Given the description of an element on the screen output the (x, y) to click on. 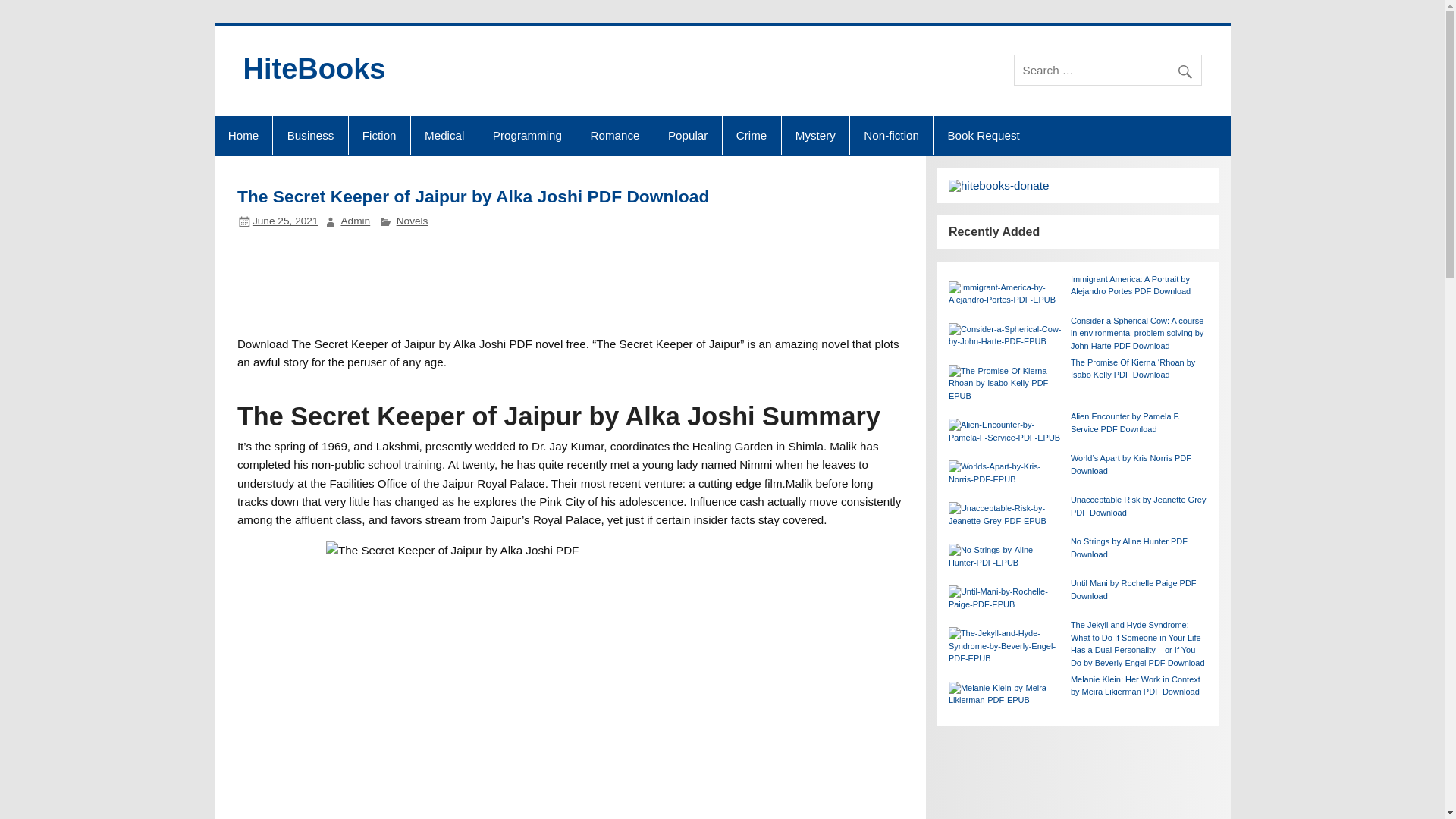
Medical (444, 135)
View all posts by Admin (354, 220)
Fiction (379, 135)
Until Mani by Rochelle Paige PDF Download (1133, 589)
Book Request (983, 135)
Novels (412, 220)
Alien Encounter by Pamela F. Service PDF Download (1124, 422)
Romance (614, 135)
Mystery (814, 135)
